Given the description of an element on the screen output the (x, y) to click on. 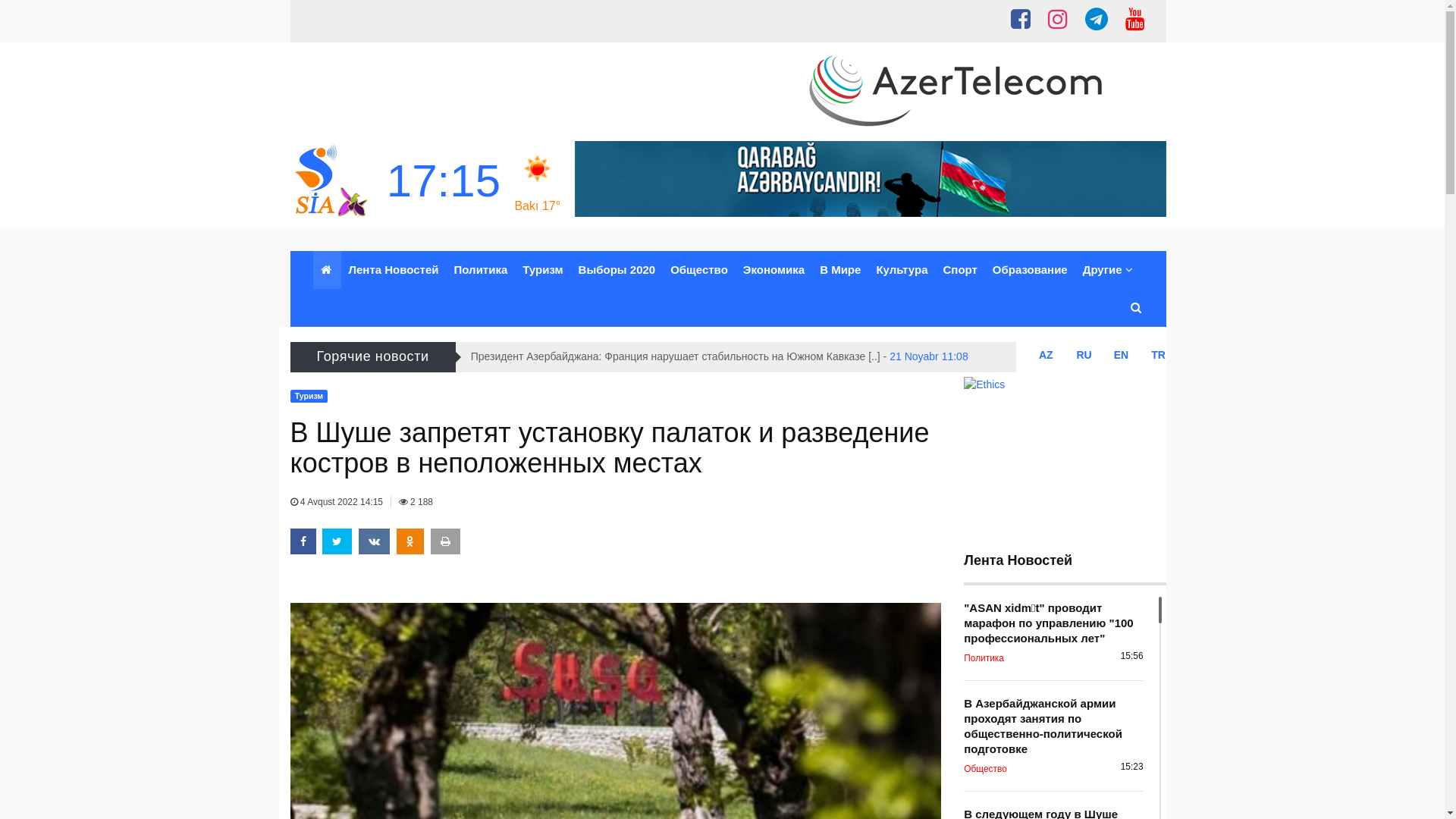
TR Element type: text (1158, 354)
2 188 Element type: text (415, 501)
AZ Element type: text (1045, 354)
EN Element type: text (1120, 354)
4 Avqust 2022 14:15 Element type: text (337, 501)
RU Element type: text (1083, 354)
